Given the description of an element on the screen output the (x, y) to click on. 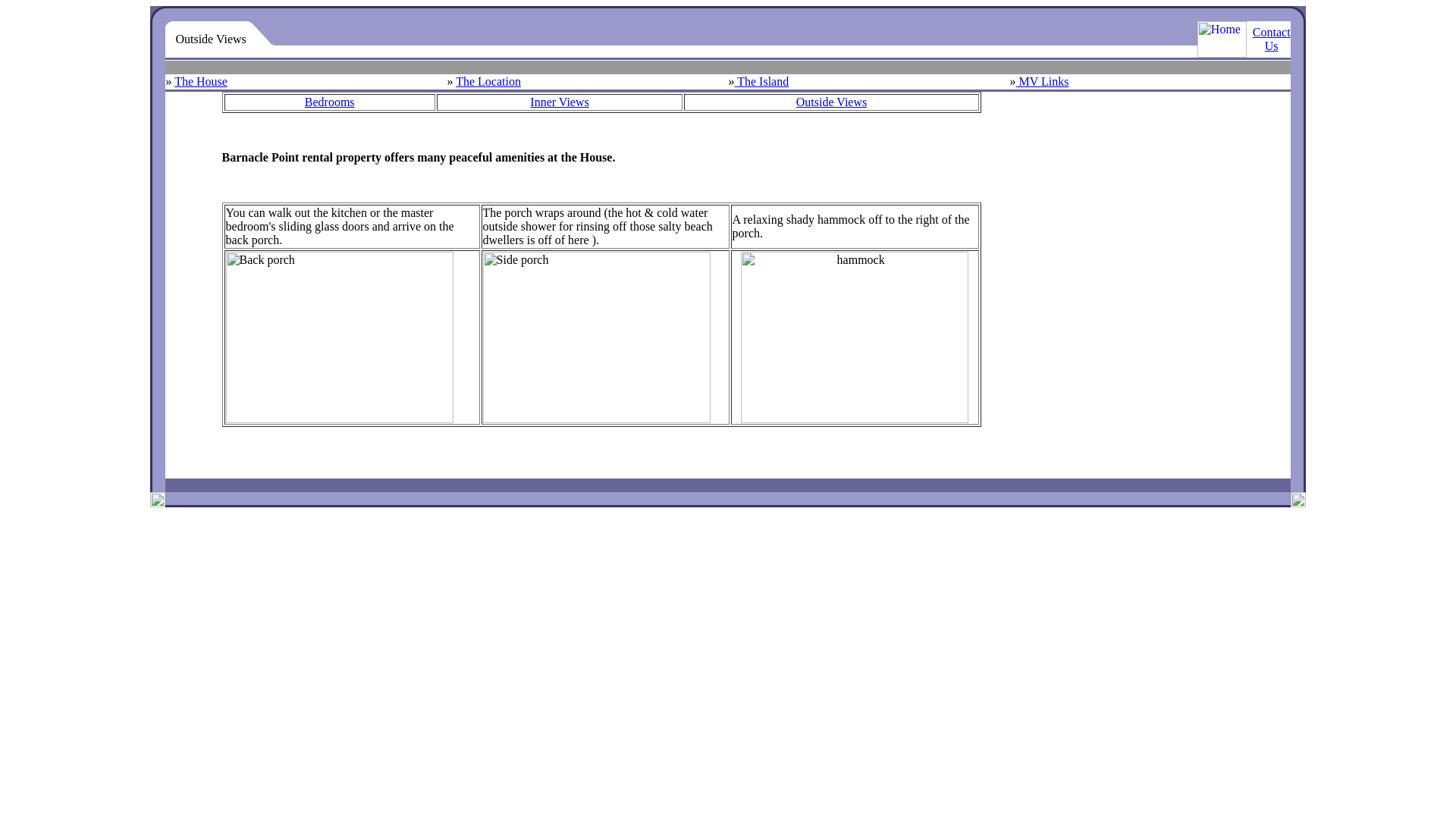
The House (200, 81)
The Location (488, 81)
MV Links (1042, 81)
Inner Views (558, 101)
The Island (761, 81)
Contact Us (1271, 38)
Bedrooms (329, 101)
Outside Views (831, 101)
